Given the description of an element on the screen output the (x, y) to click on. 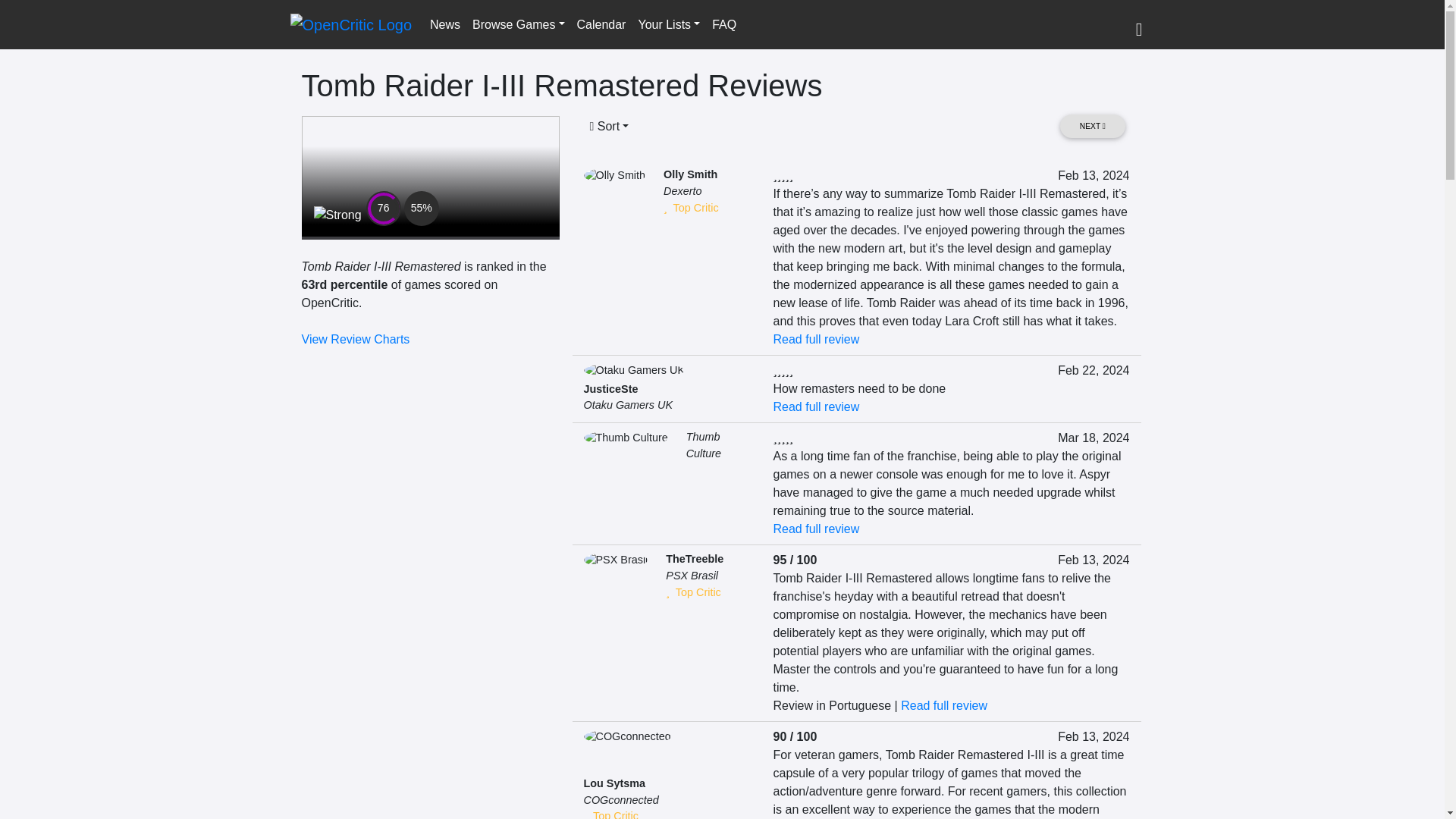
Browse Games (517, 24)
Read full review (816, 338)
Otaku Gamers UK (627, 404)
Olly Smith (690, 174)
View Review Charts (355, 338)
Read full review (816, 406)
Calendar (600, 24)
Thumb Culture (702, 444)
NEXT (1091, 126)
Your Lists (668, 24)
Read full review (816, 528)
News (444, 24)
Dexerto (682, 191)
FAQ (724, 24)
